Given the description of an element on the screen output the (x, y) to click on. 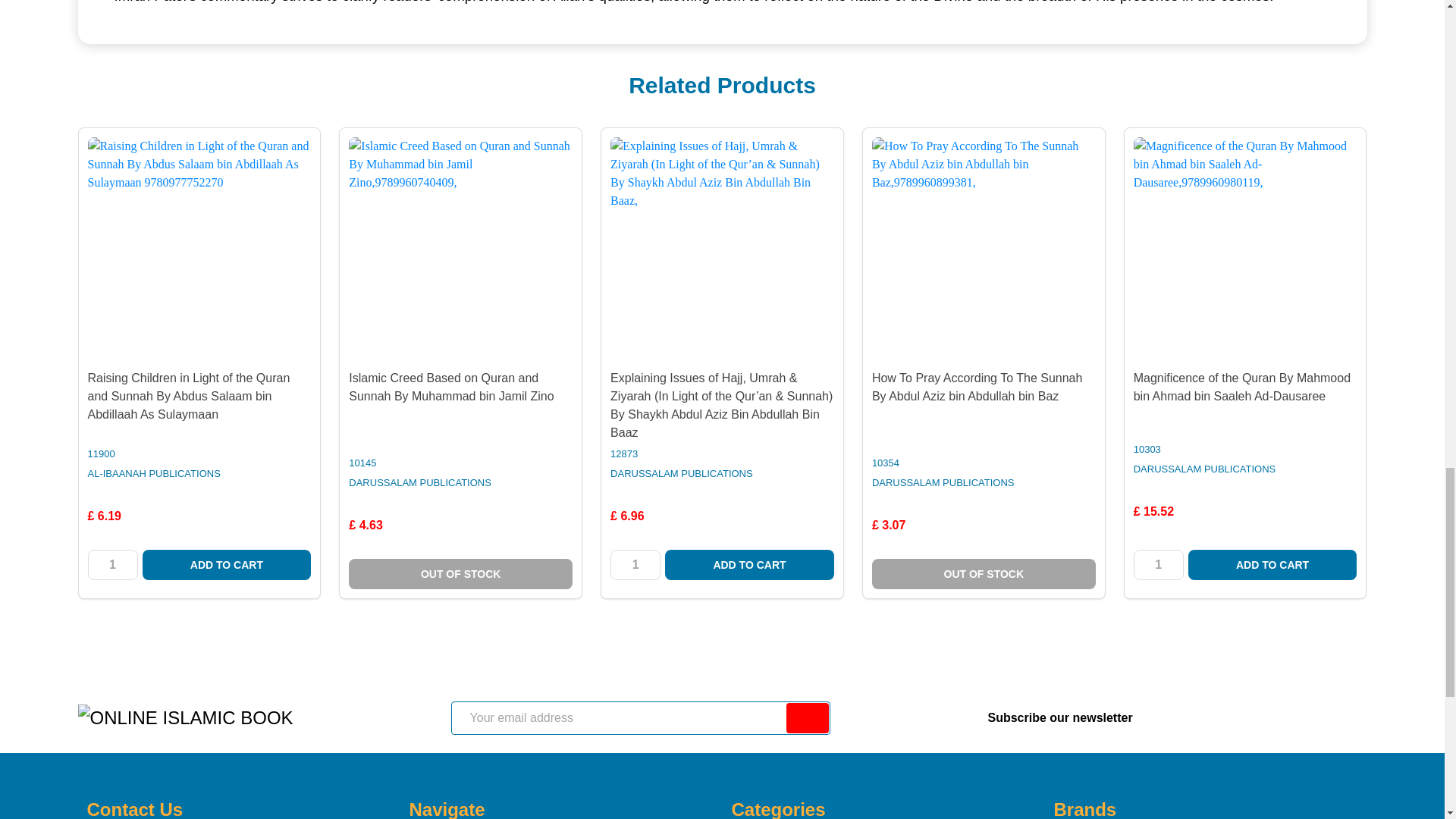
1 (111, 564)
1 (635, 564)
1 (1158, 564)
